Given the description of an element on the screen output the (x, y) to click on. 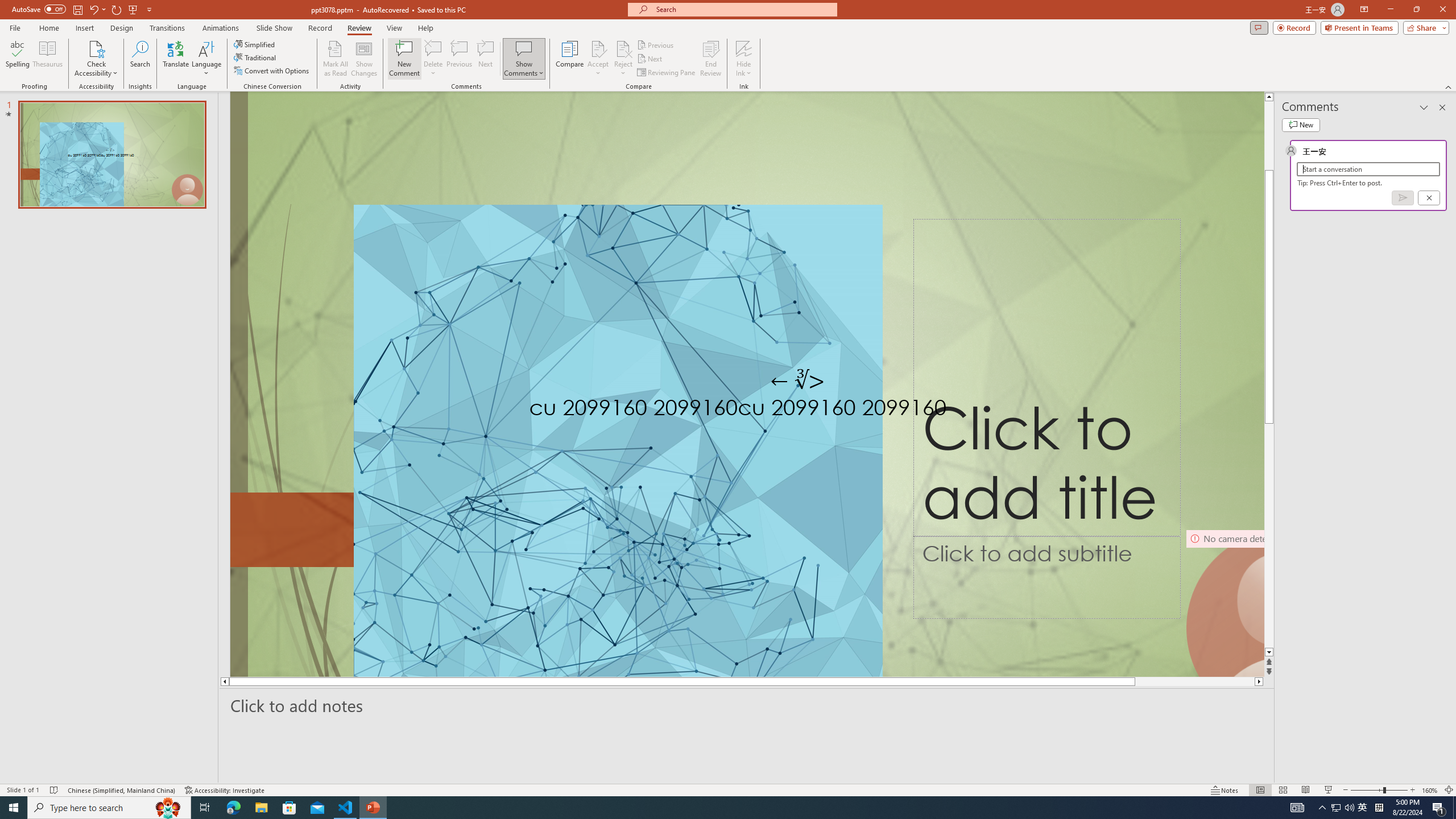
New comment (1300, 124)
New Comment (403, 58)
